Given the description of an element on the screen output the (x, y) to click on. 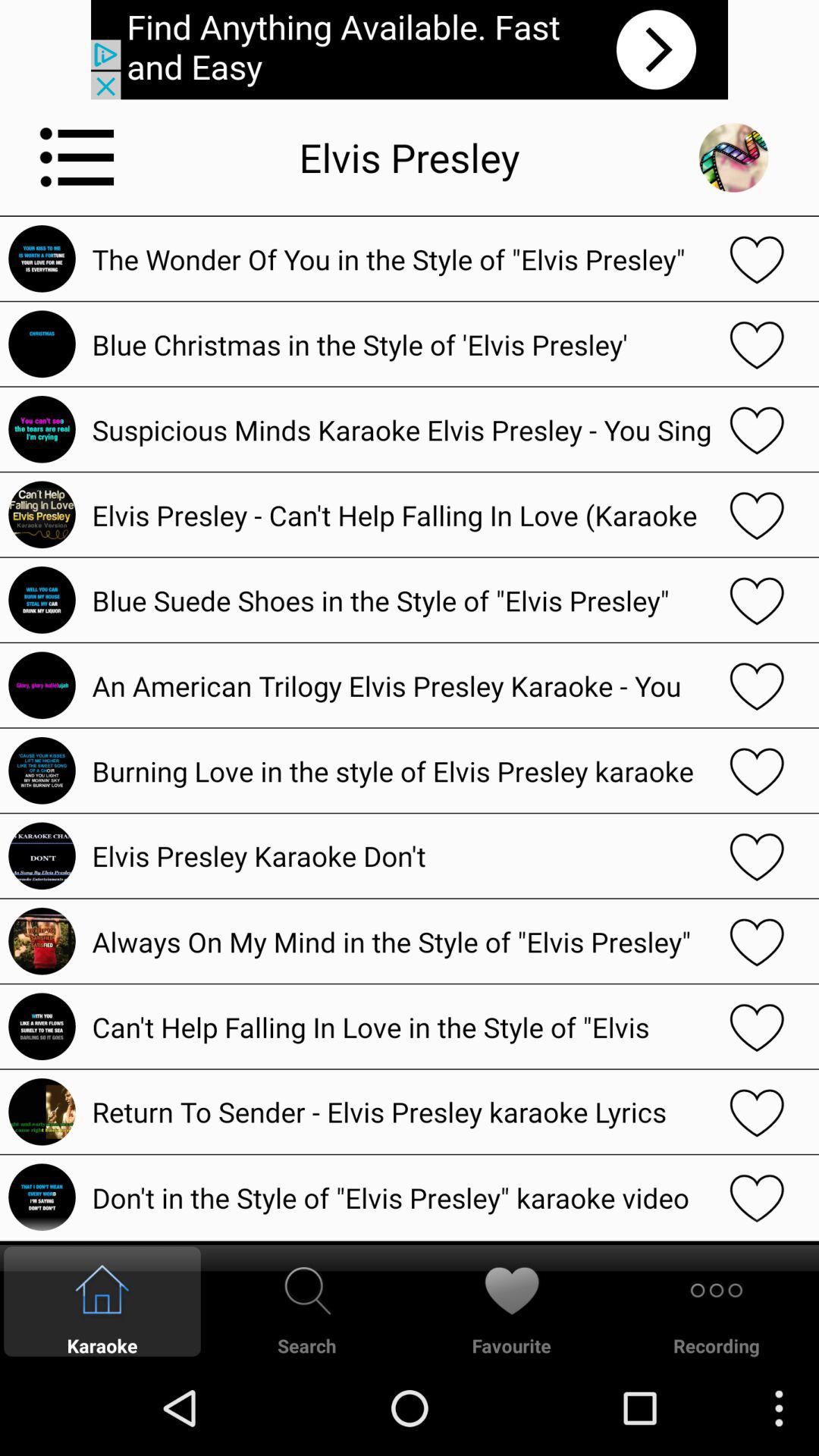
like option (756, 1111)
